Given the description of an element on the screen output the (x, y) to click on. 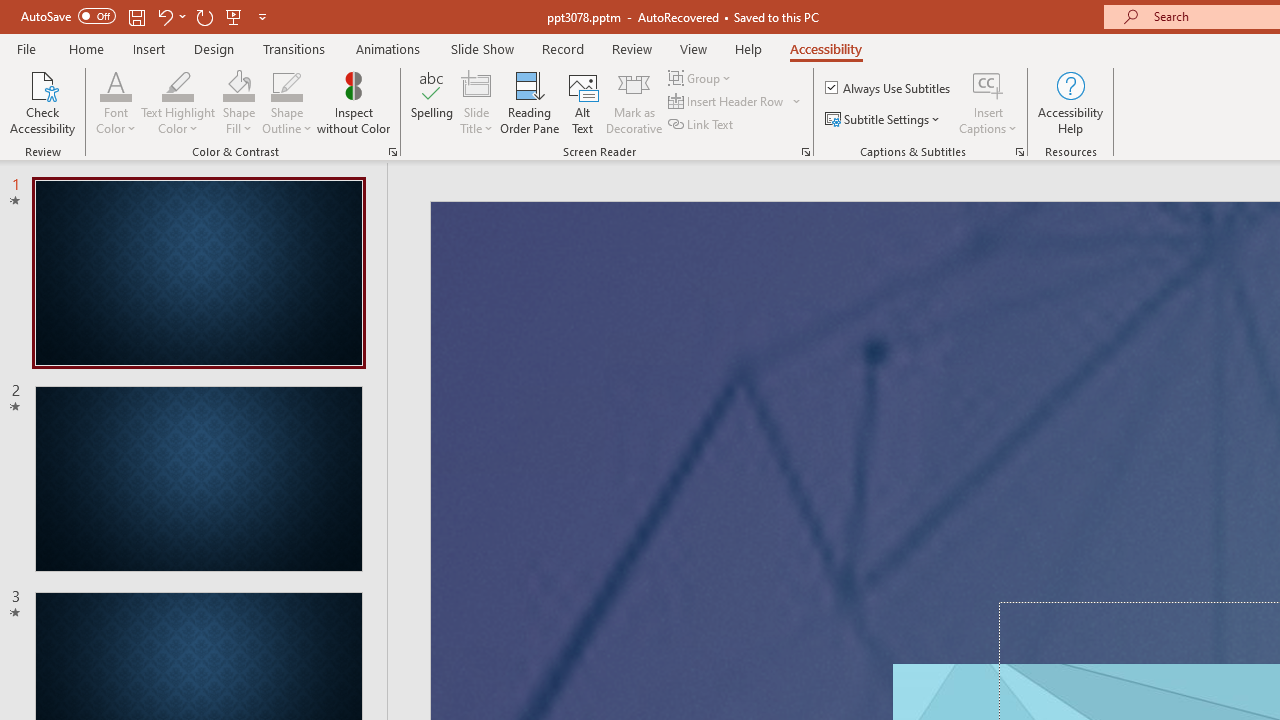
Insert Header Row (735, 101)
Subtitle Settings (884, 119)
